Given the description of an element on the screen output the (x, y) to click on. 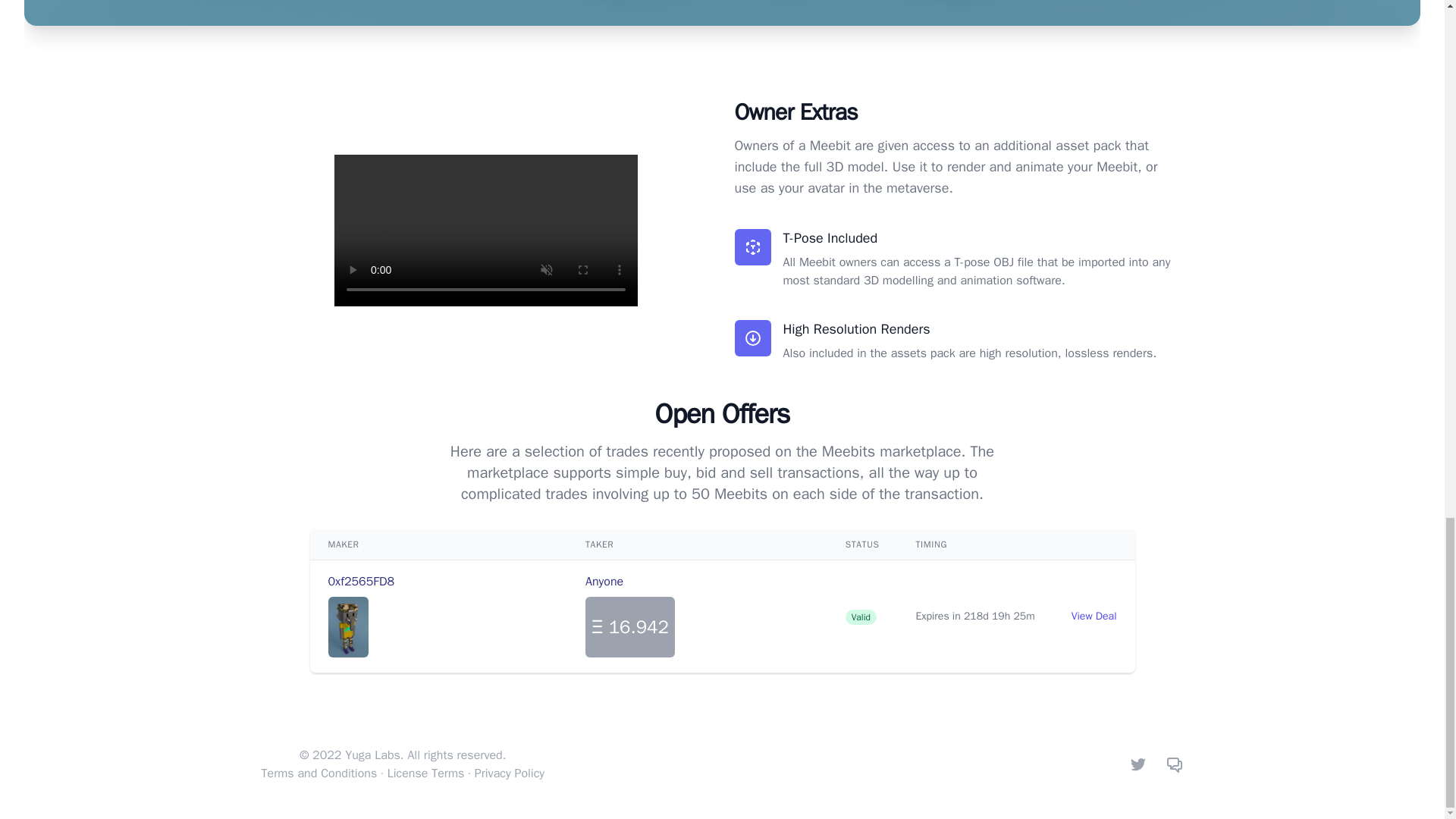
0xf2565FD8 (360, 581)
Discord (1173, 764)
Twitter (1137, 764)
Terms and Conditions (318, 773)
License Terms (425, 773)
View Deal (1093, 615)
Privacy Policy (509, 773)
